Given the description of an element on the screen output the (x, y) to click on. 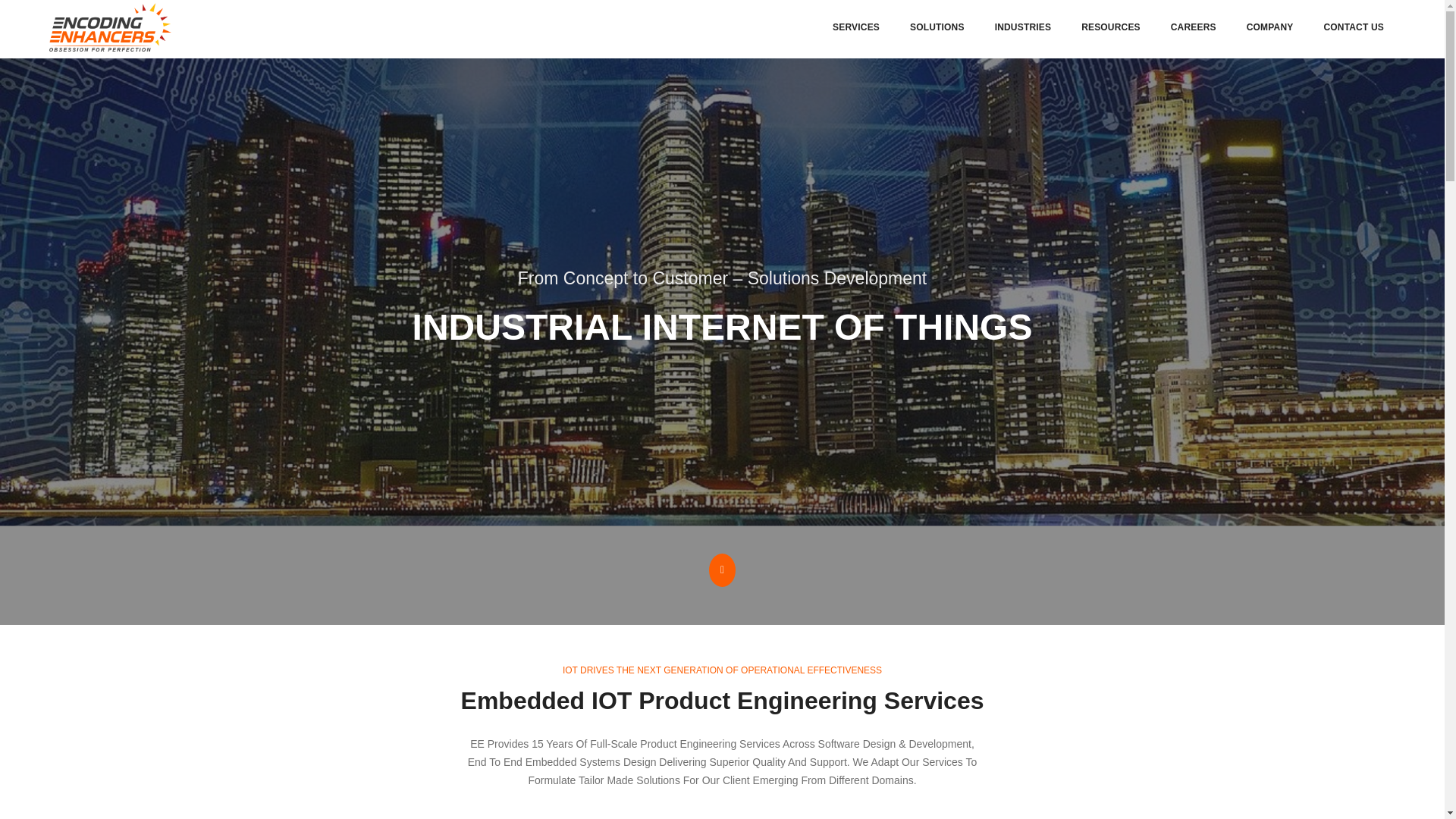
RESOURCES (1110, 27)
SOLUTIONS (936, 27)
INDUSTRIES (1022, 27)
EE (110, 27)
CONTACT US (1353, 27)
